Given the description of an element on the screen output the (x, y) to click on. 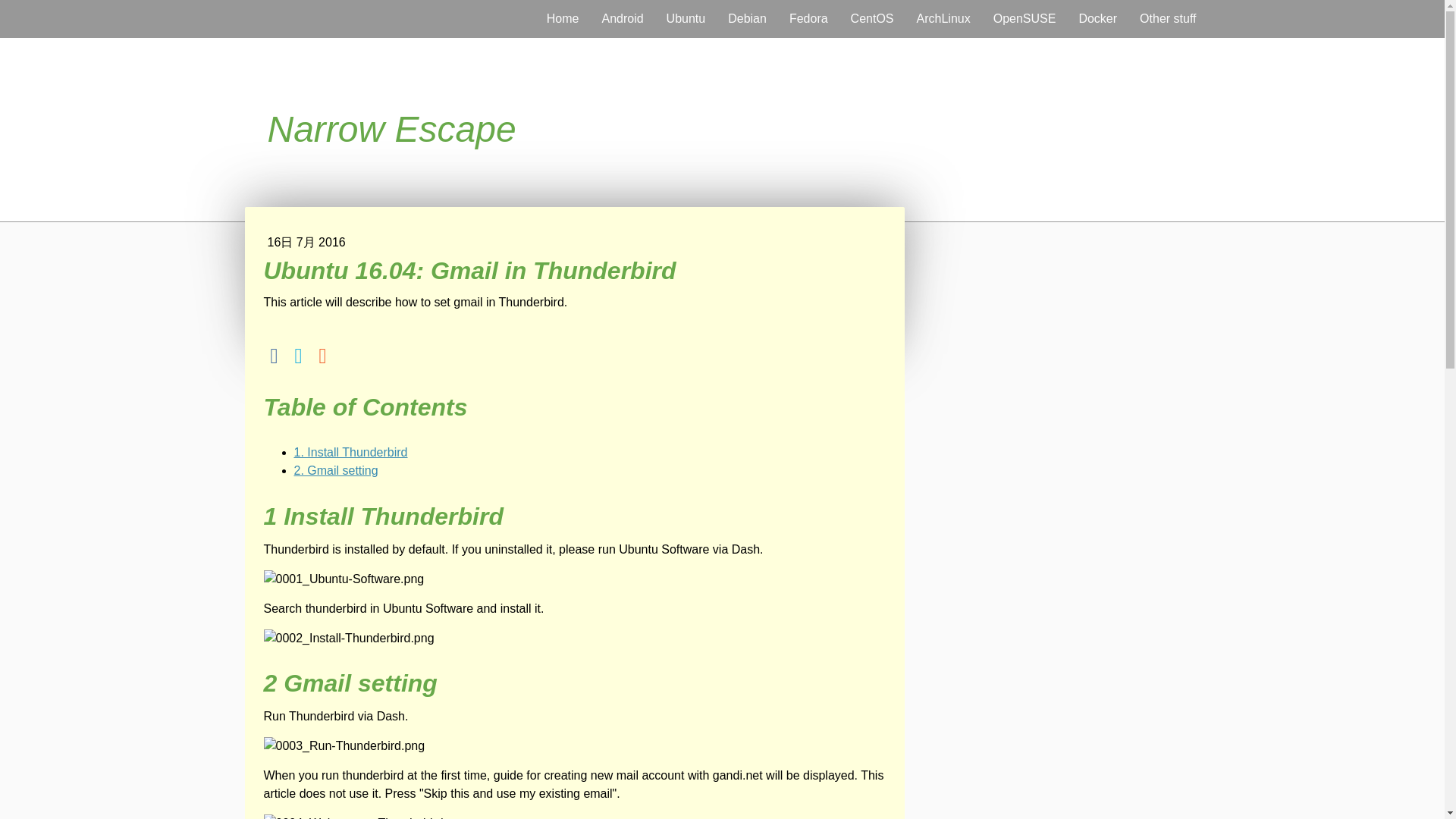
Android (621, 18)
Facebook (274, 355)
Reddit (323, 355)
Debian (746, 18)
CentOS (872, 18)
Ubuntu (686, 18)
Home (563, 18)
Fedora (808, 18)
ArchLinux (943, 18)
Twitter (298, 355)
